Given the description of an element on the screen output the (x, y) to click on. 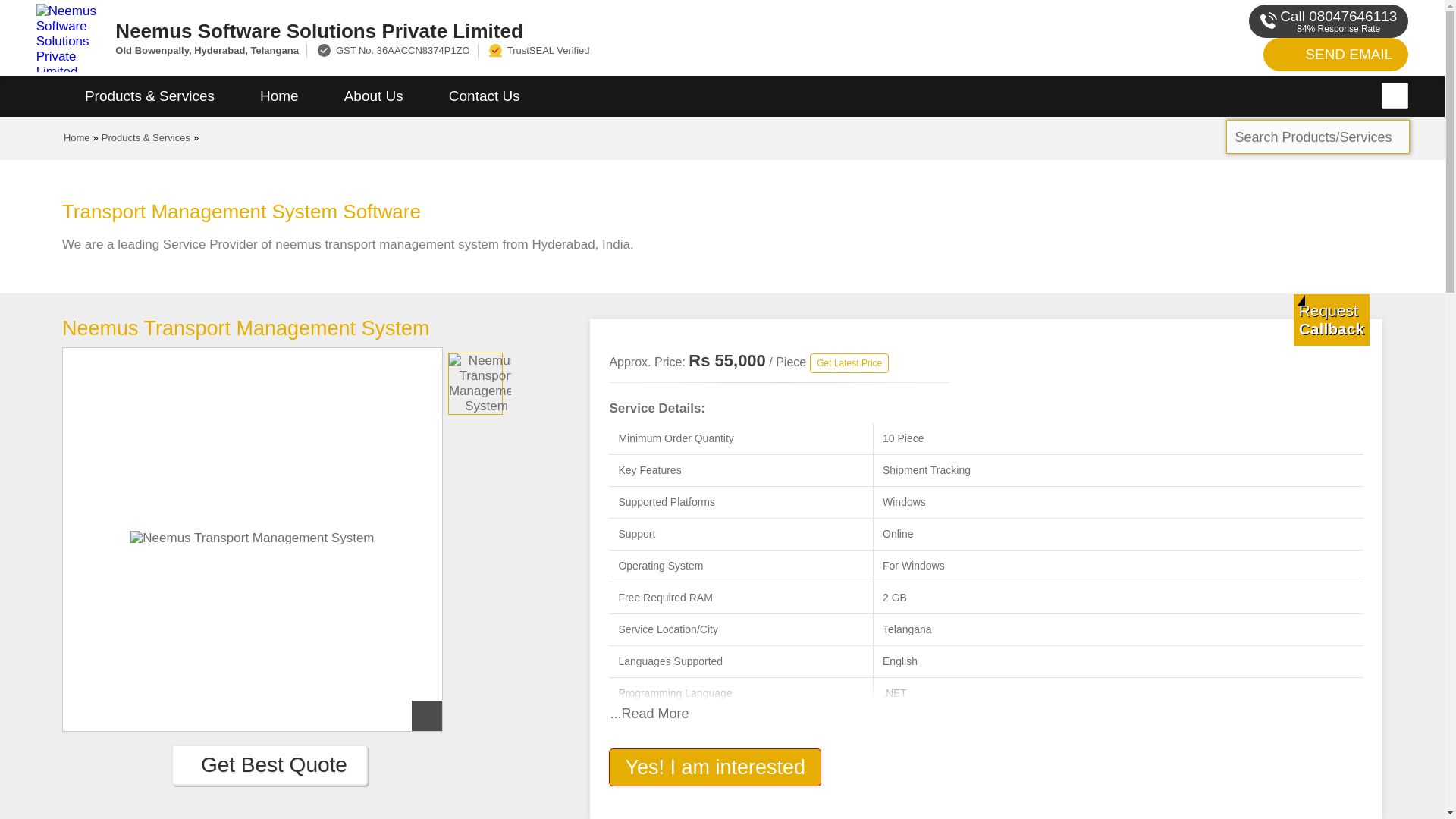
Neemus Software Solutions Private Limited (552, 31)
Home (279, 96)
Home (77, 137)
About Us (373, 96)
Contact Us (484, 96)
Get a Call from us (1332, 319)
